Given the description of an element on the screen output the (x, y) to click on. 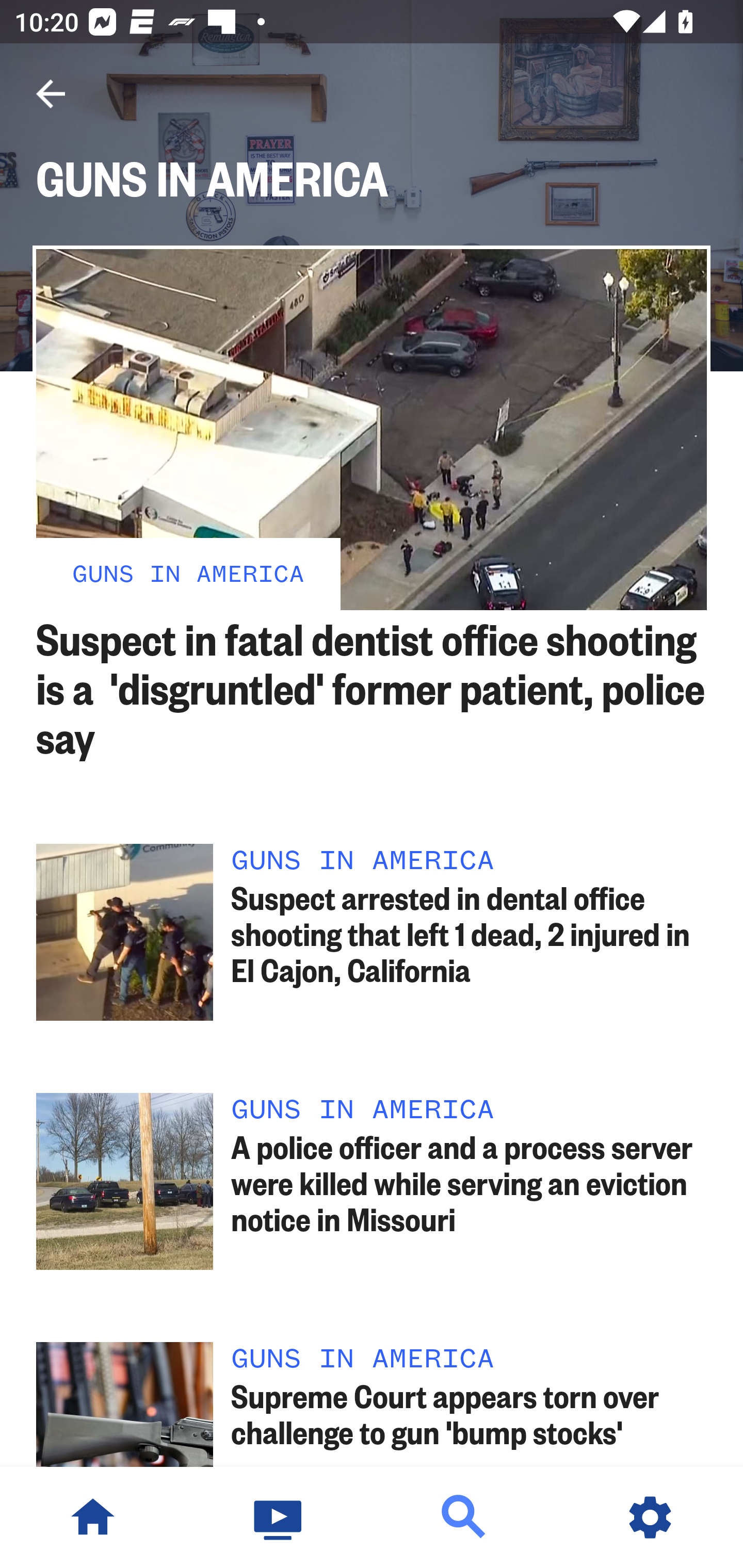
Navigate up (50, 93)
NBC News Home (92, 1517)
Watch (278, 1517)
Settings (650, 1517)
